Given the description of an element on the screen output the (x, y) to click on. 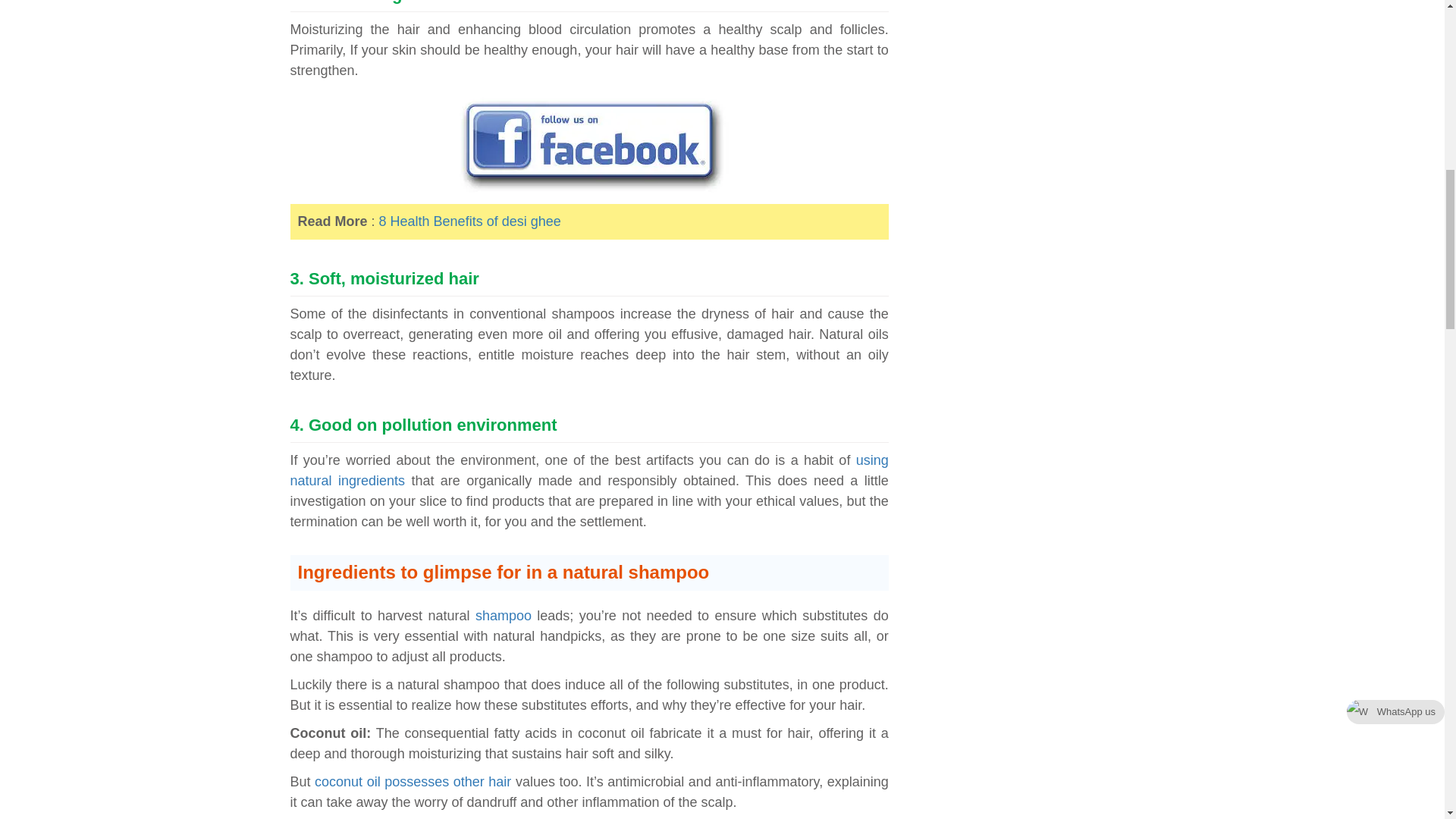
shampoo (500, 615)
using natural ingredients (588, 470)
coconut oil possesses other hair (414, 781)
8 Health Benefits of desi ghee (469, 221)
